Given the description of an element on the screen output the (x, y) to click on. 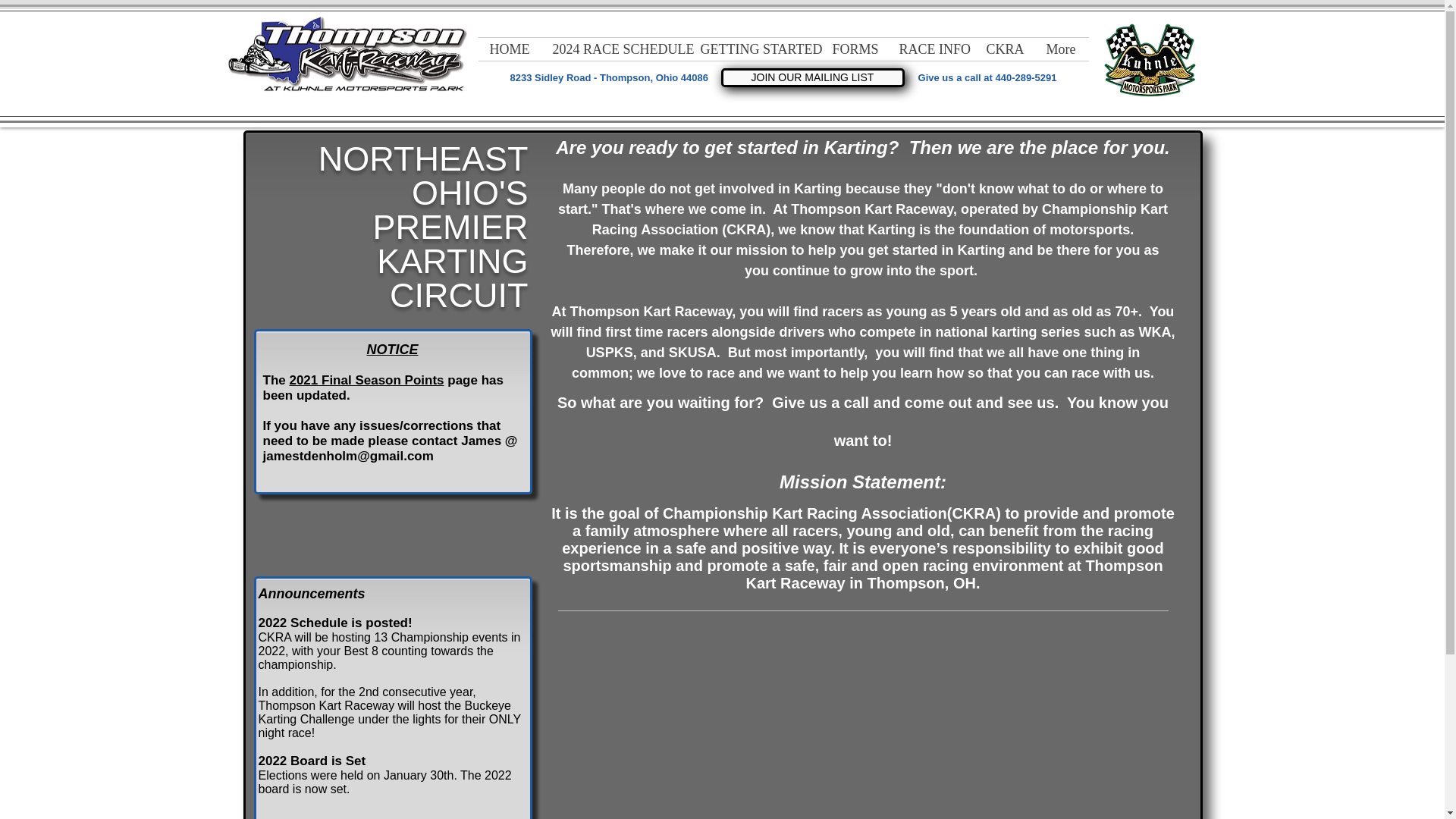
FORMS (853, 48)
2021 Final Season Points (366, 380)
CKRA (1004, 48)
JOIN OUR MAILING LIST (812, 76)
2024 RACE SCHEDULE (614, 48)
GETTING STARTED (754, 48)
HOME (508, 48)
